Given the description of an element on the screen output the (x, y) to click on. 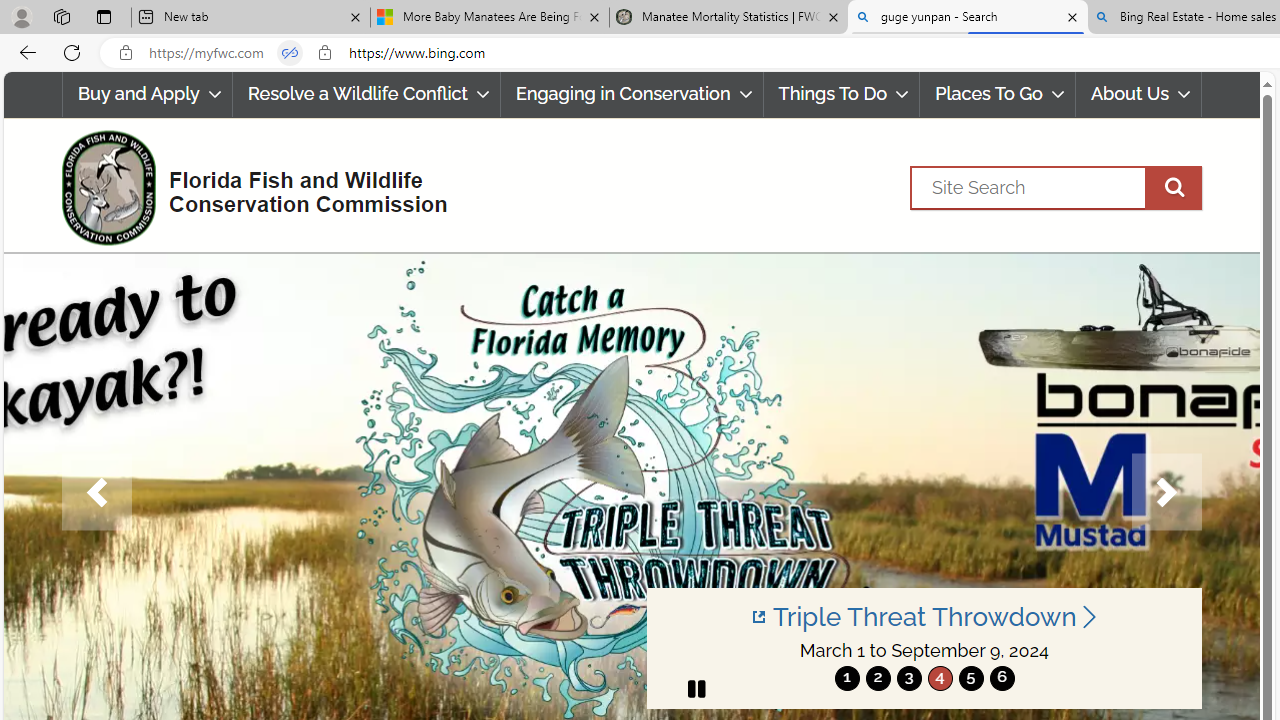
move to slide 5 (970, 678)
Places To Go (998, 94)
Workspaces (61, 16)
2 (877, 678)
3 (908, 678)
Previous (96, 491)
FWC Logo Florida Fish and Wildlife Conservation Commission (246, 185)
Close tab (1072, 16)
4 (939, 678)
Tab actions menu (104, 16)
execute site search (1173, 187)
guge yunpan - Search (967, 17)
FWC Logo (108, 187)
New tab (250, 17)
Tabs in split screen (289, 53)
